Given the description of an element on the screen output the (x, y) to click on. 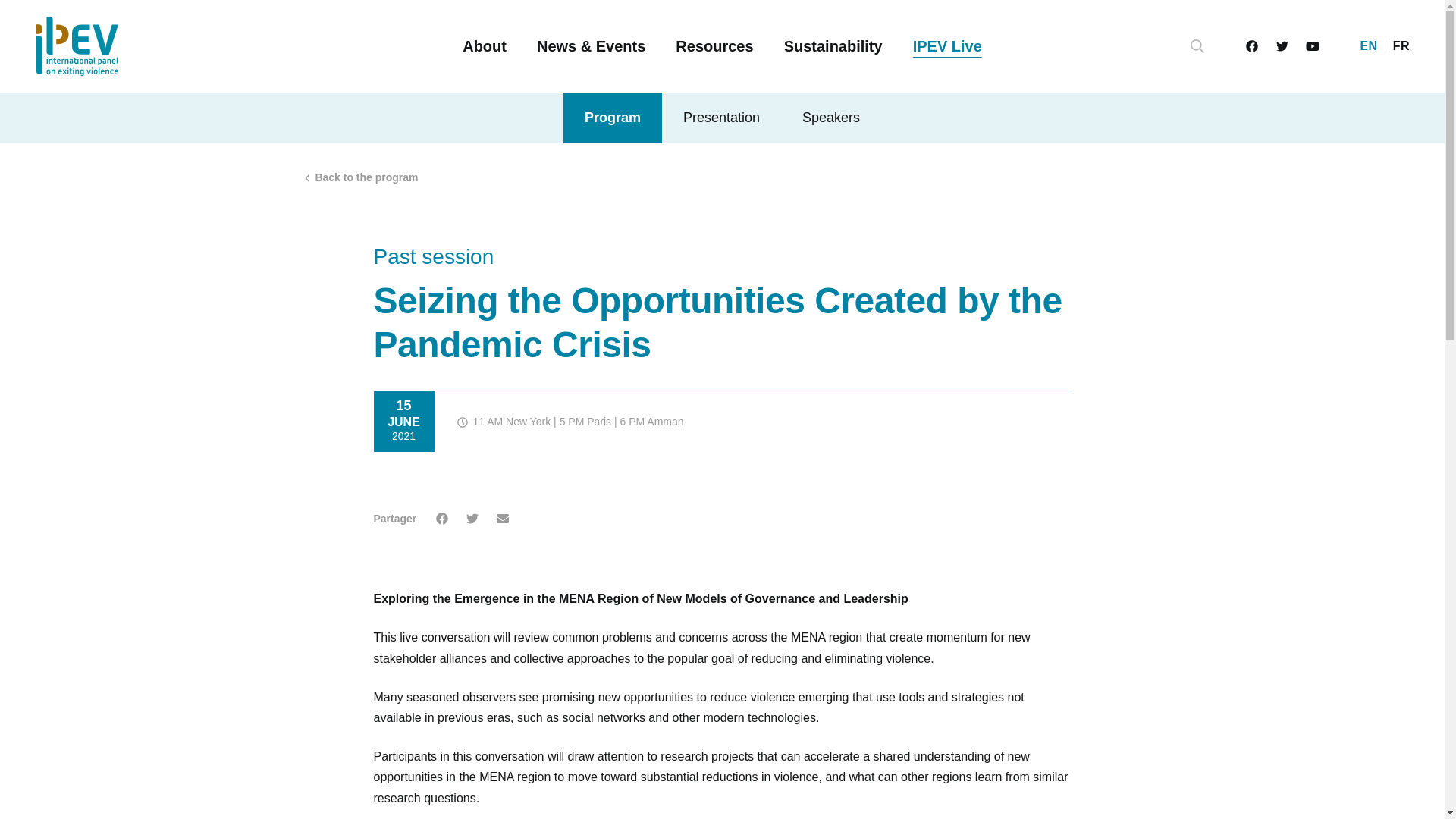
Facebook (441, 518)
Twitter (1281, 46)
IPEV Live (946, 45)
Resources (713, 45)
Speakers (830, 117)
Facebook (1251, 46)
Back to the program (360, 177)
Envelope (502, 518)
Youtube (1312, 46)
EN (1368, 46)
FR (1401, 46)
Go to main content (11, 11)
About (484, 45)
Program (612, 117)
Presentation (721, 117)
